Given the description of an element on the screen output the (x, y) to click on. 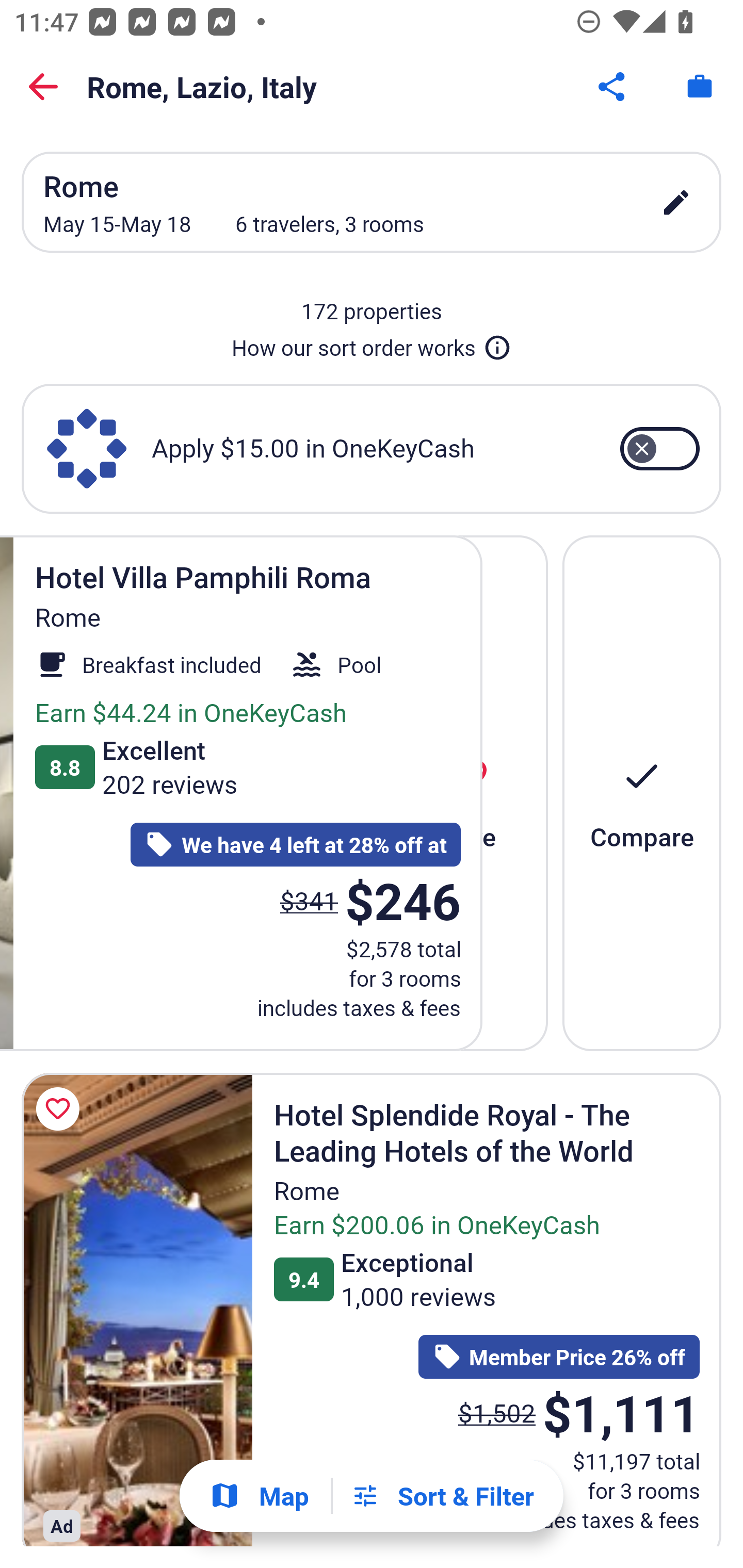
Back (43, 86)
Share Button (612, 86)
Trips. Button (699, 86)
Rome May 15-May 18 6 travelers, 3 rooms edit (371, 202)
How our sort order works (371, 344)
Compare (641, 792)
$341 The price was $341 (308, 900)
$1,502 The price was $1,502 (496, 1412)
Filters Sort & Filter Filters Button (442, 1495)
Show map Map Show map Button (258, 1495)
